Given the description of an element on the screen output the (x, y) to click on. 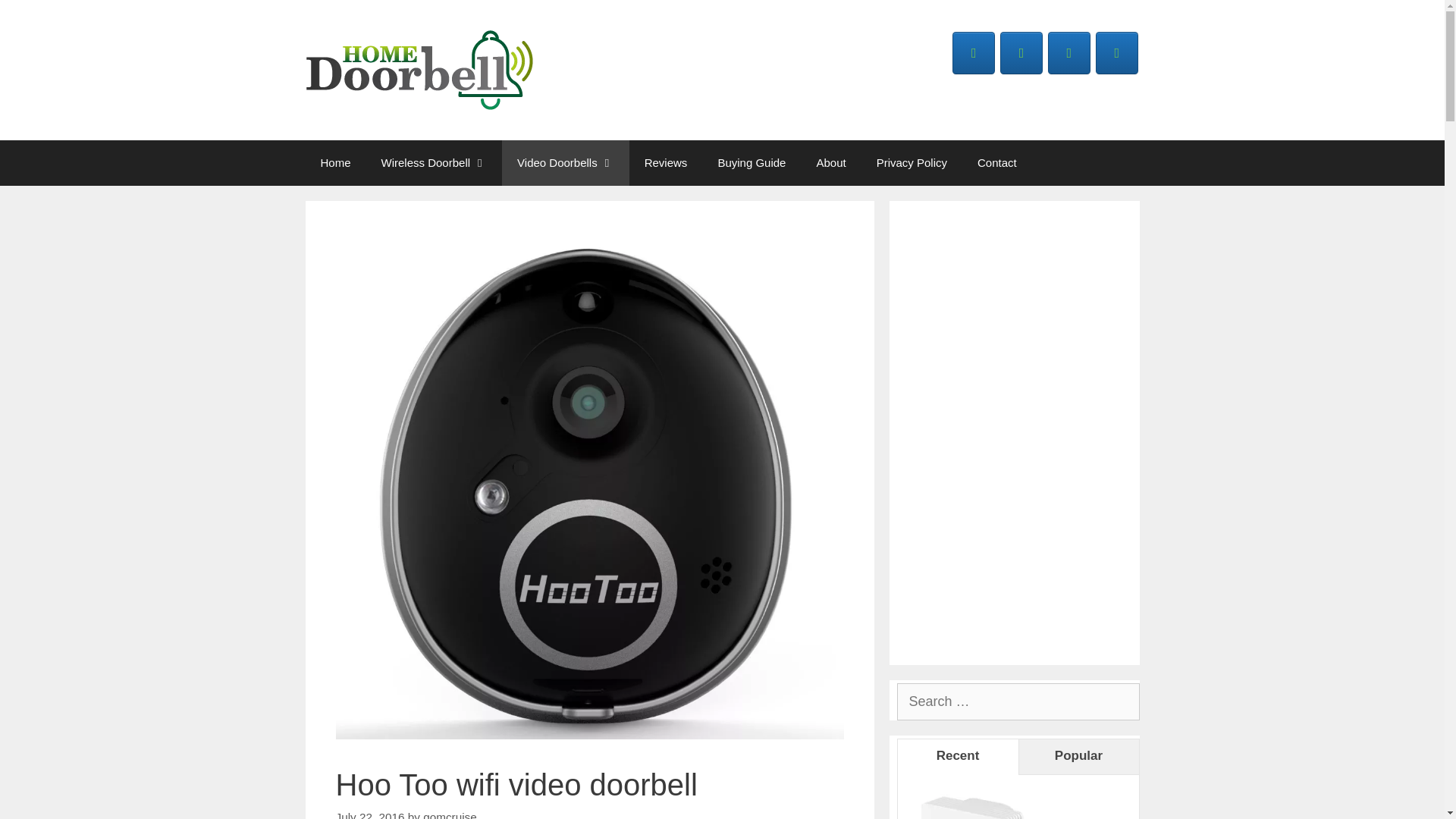
Buying Guide (750, 162)
Wireless Doorbell (434, 162)
Home Doorbell on Instagram (1117, 52)
Home Doorbell on X Twitter (1021, 52)
Contact (997, 162)
About (830, 162)
Home Doorbell on Facebook (973, 52)
View all posts by gomcruise (450, 814)
Reviews (665, 162)
gomcruise (450, 814)
